Given the description of an element on the screen output the (x, y) to click on. 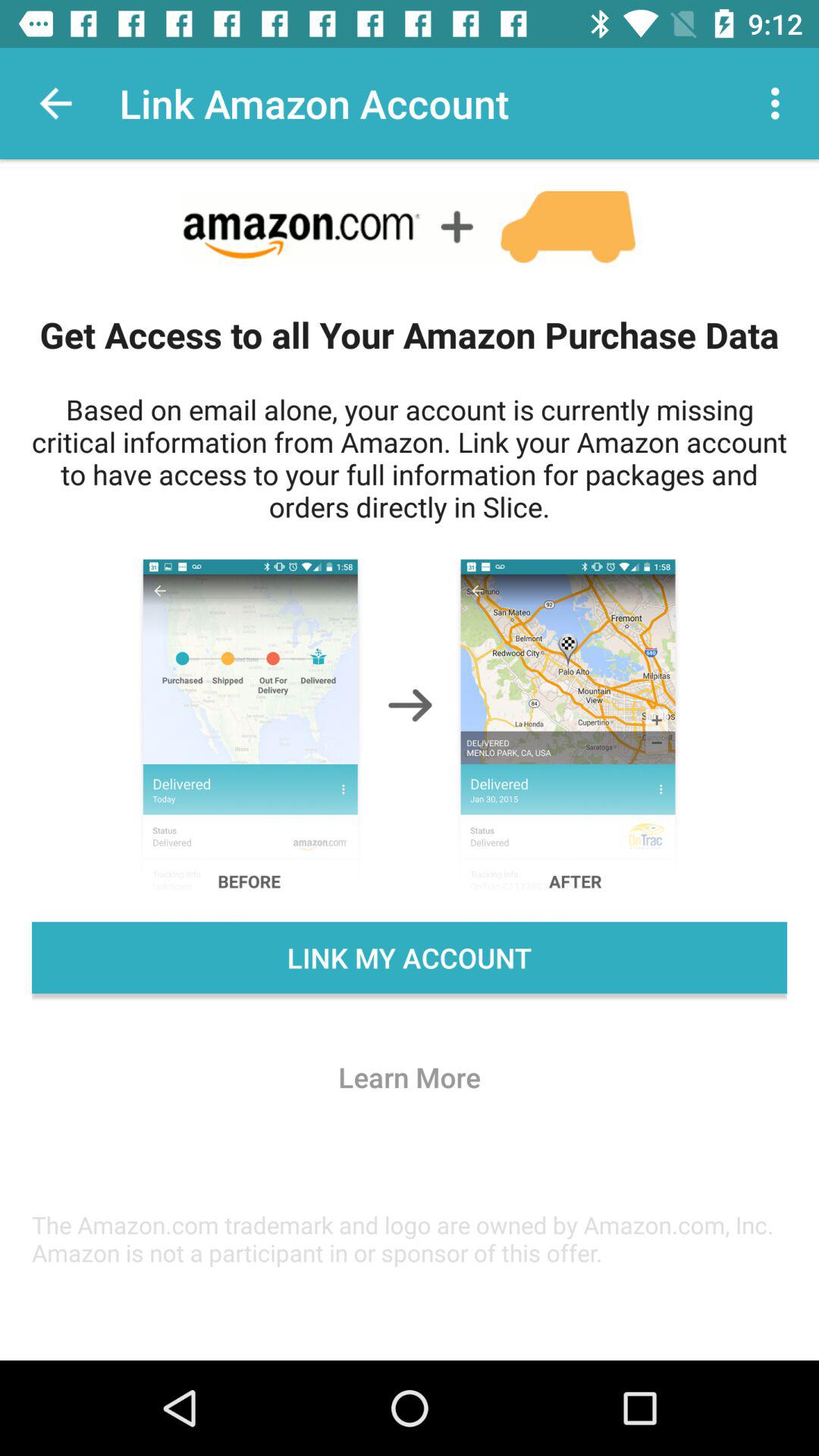
launch icon next to link amazon account item (779, 103)
